Given the description of an element on the screen output the (x, y) to click on. 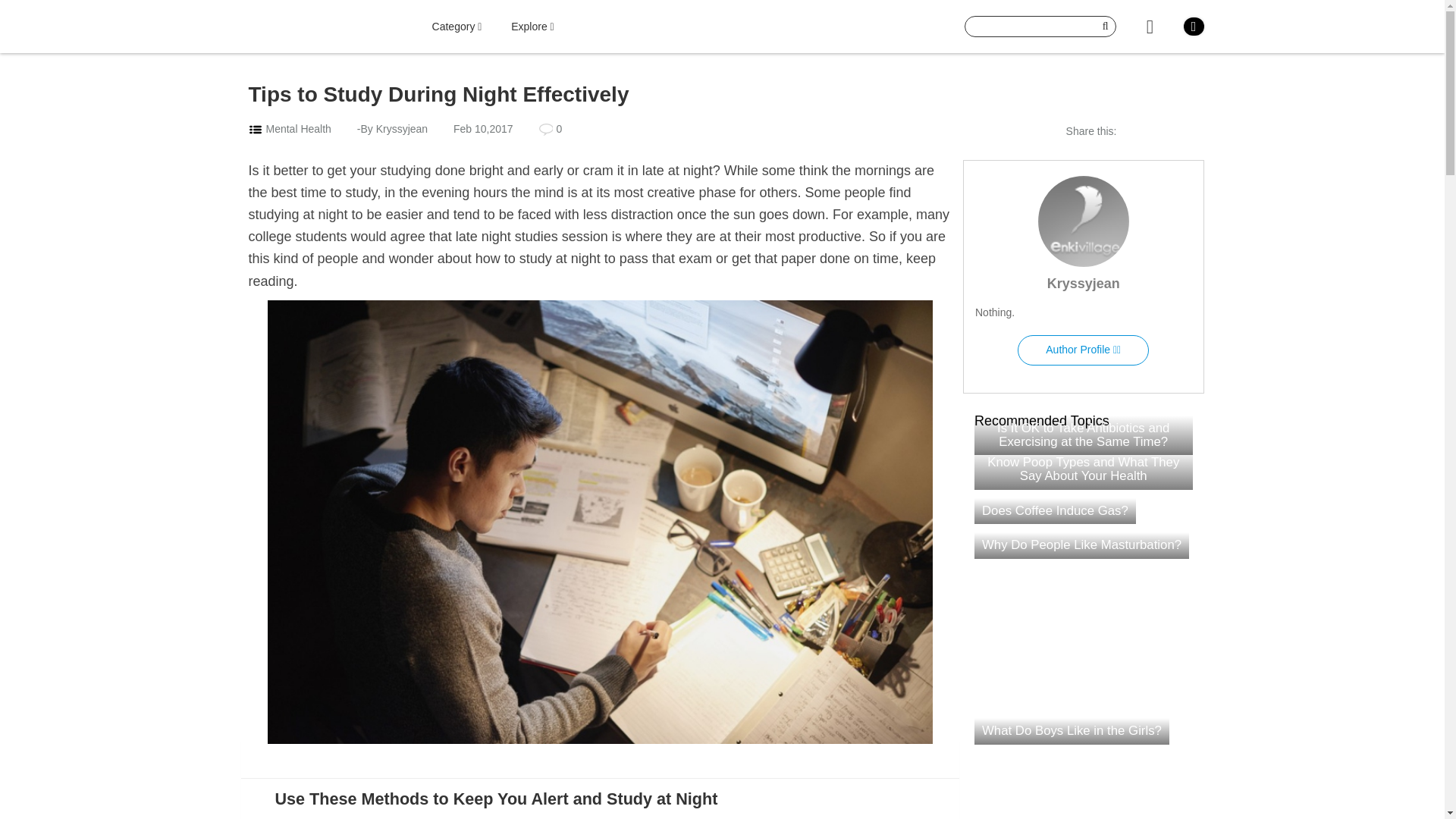
Category (457, 26)
Explore (532, 26)
Mental Health (297, 128)
